Given the description of an element on the screen output the (x, y) to click on. 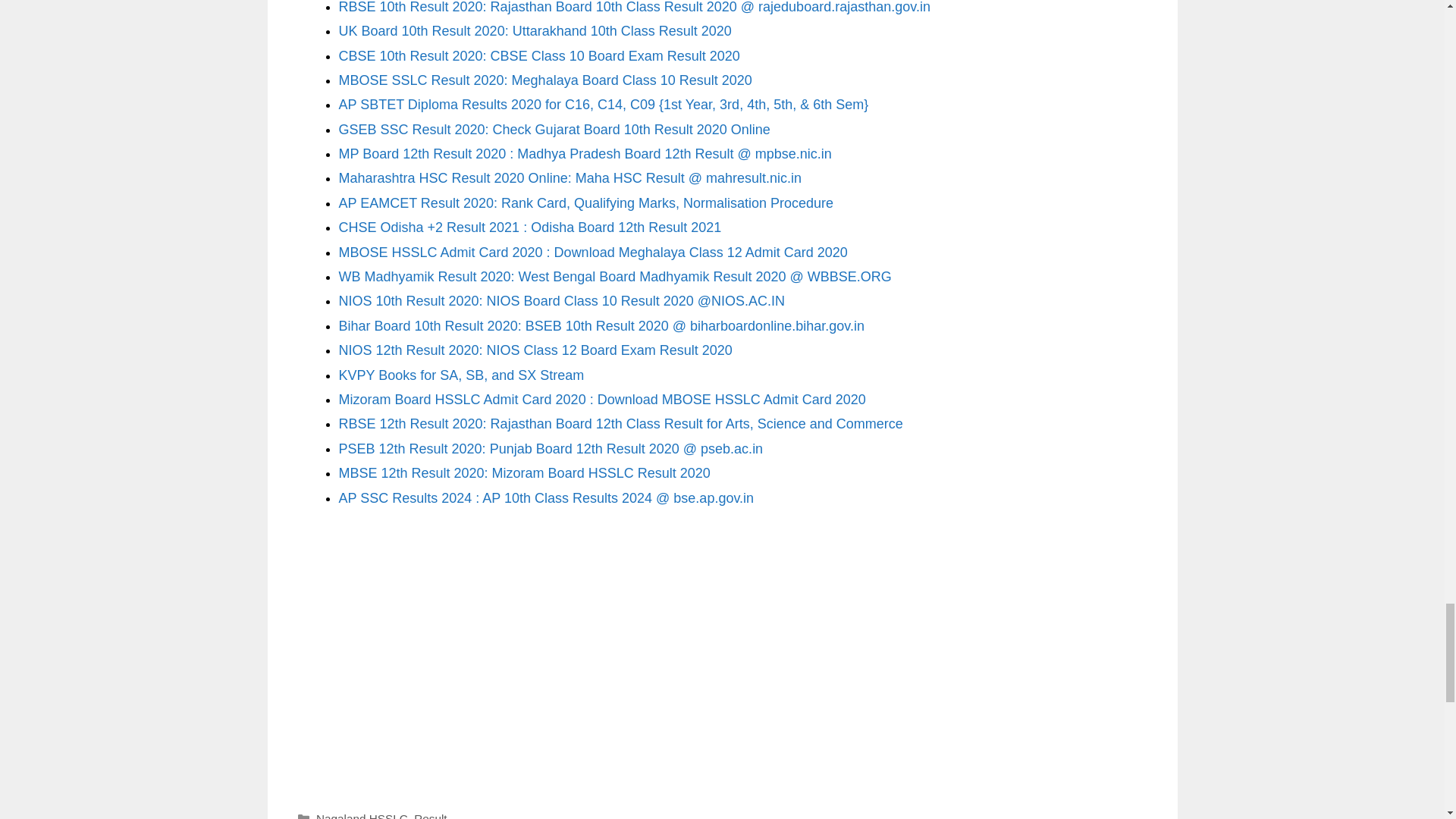
CBSE 10th Result 2020: CBSE Class 10 Board Exam Result 2020 (538, 55)
KVPY Books for SA, SB, and SX Stream (460, 375)
MBOSE SSLC Result 2020: Meghalaya Board Class 10 Result 2020 (544, 79)
NIOS 12th Result 2020: NIOS Class 12 Board Exam Result 2020 (534, 350)
